Given the description of an element on the screen output the (x, y) to click on. 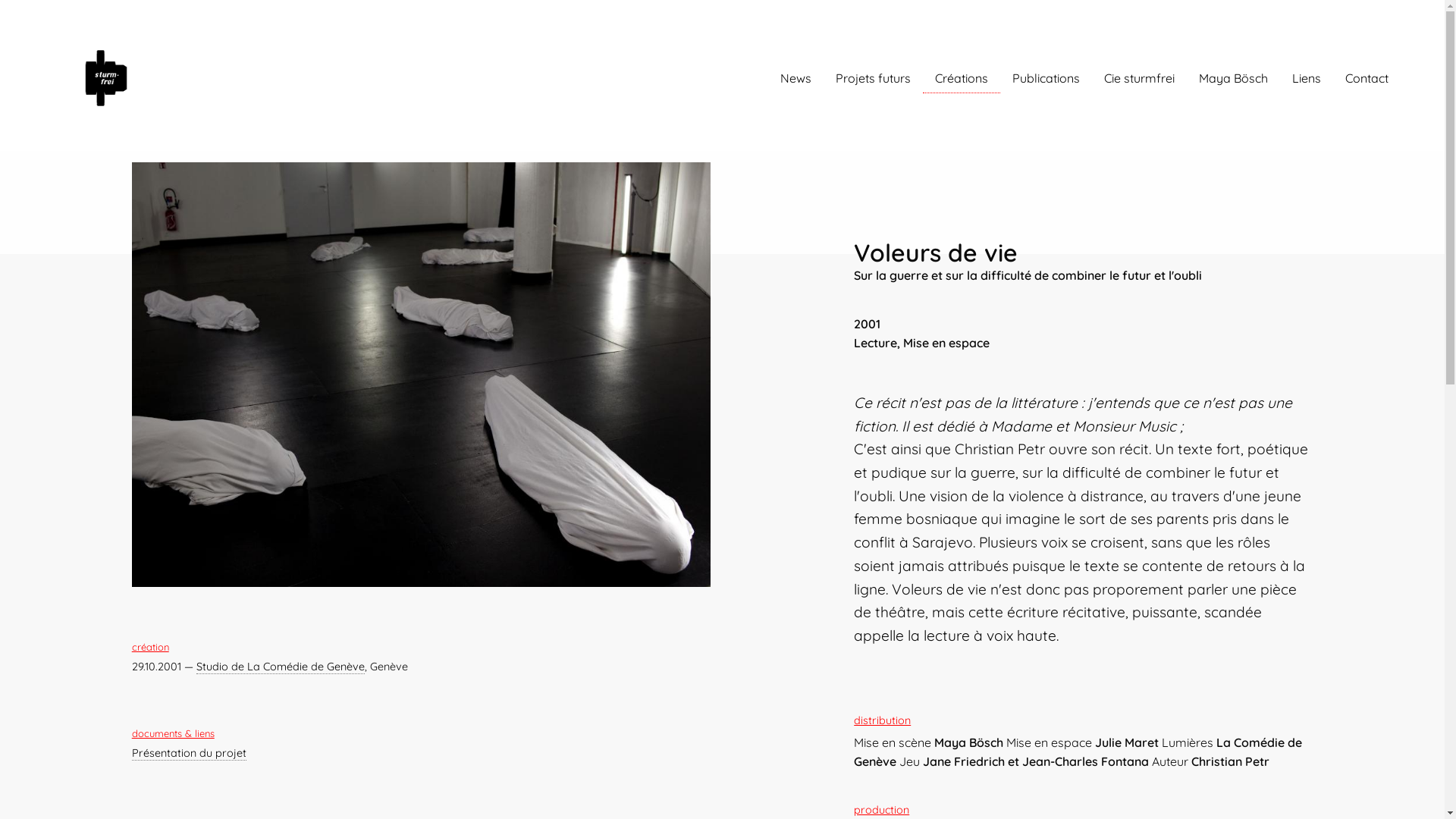
Liens Element type: text (1306, 77)
News Element type: text (795, 77)
Projets futurs Element type: text (872, 77)
Contact Element type: text (1366, 77)
Cie sturmfrei Element type: text (1139, 77)
Publications Element type: text (1046, 77)
